Given the description of an element on the screen output the (x, y) to click on. 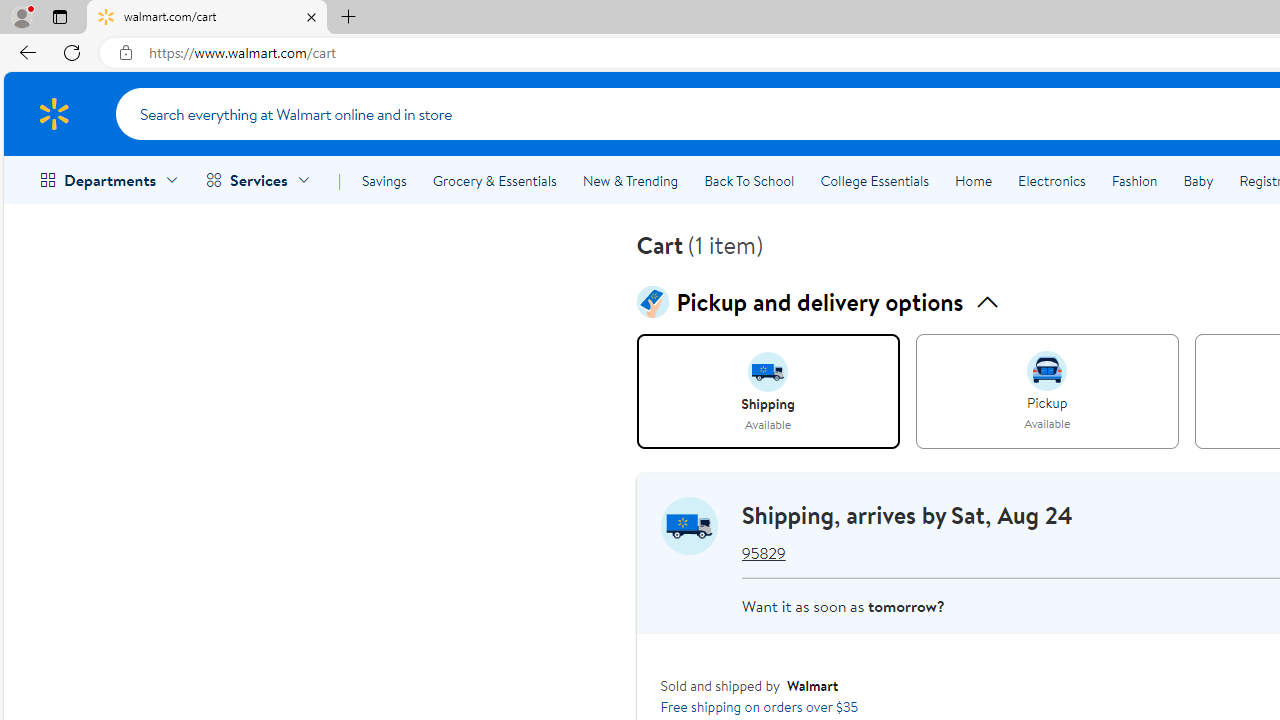
Grocery & Essentials (493, 180)
New & Trending (630, 180)
New & Trending (630, 180)
Grocery & Essentials (493, 180)
College Essentials (874, 180)
fulfillment logo (689, 525)
Back To School (749, 180)
Electronics (1051, 180)
PICKUP, Available (1046, 392)
College Essentials (874, 180)
